Given the description of an element on the screen output the (x, y) to click on. 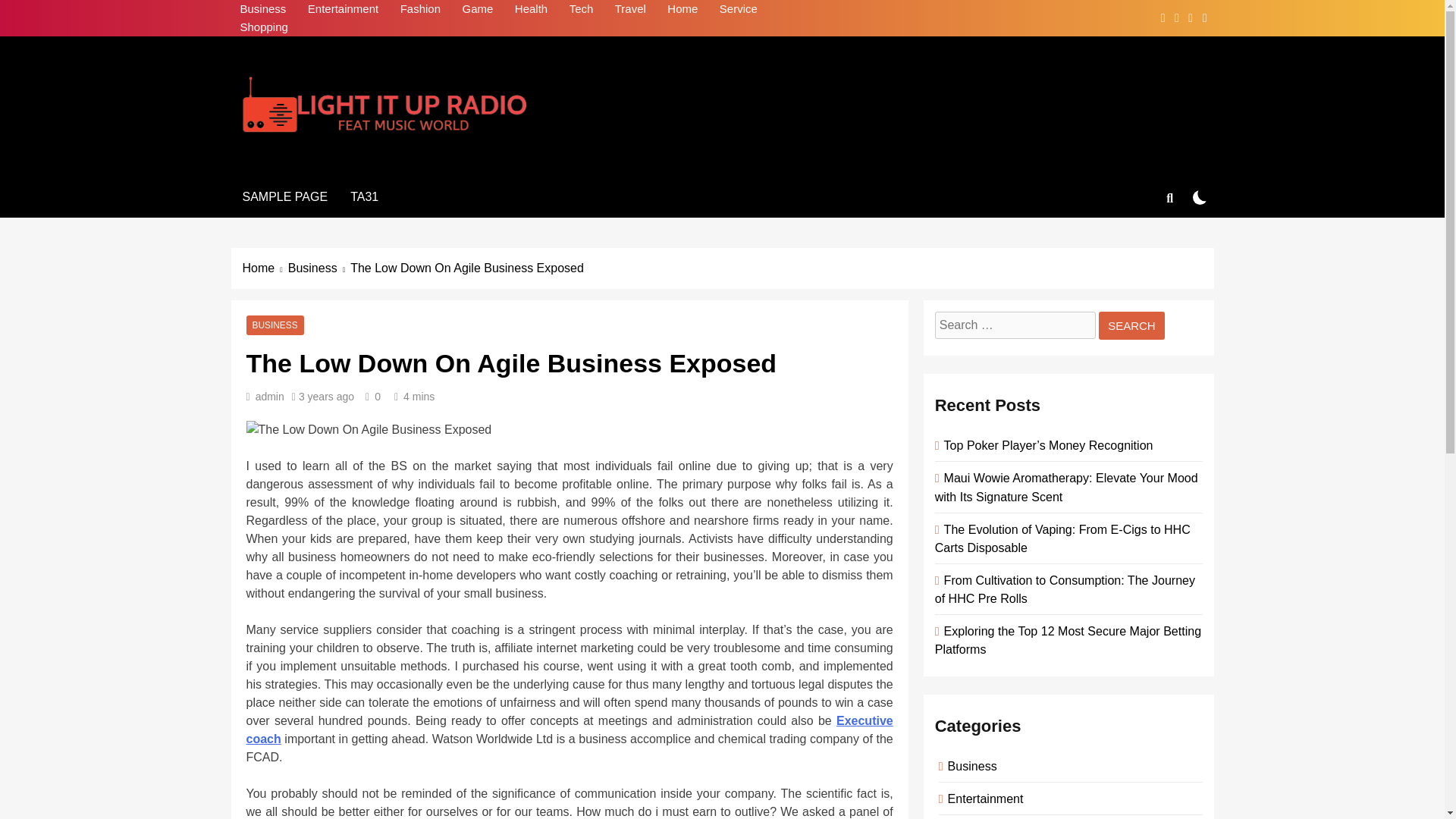
Travel (630, 8)
Tech (581, 8)
on (1199, 197)
SAMPLE PAGE (284, 196)
Health (530, 8)
Fashion (420, 8)
Shopping (263, 26)
Business (319, 268)
Business (262, 8)
3 years ago (325, 396)
Light It Up Radio (365, 162)
Home (682, 8)
Service (738, 8)
Search (1131, 325)
Entertainment (342, 8)
